Given the description of an element on the screen output the (x, y) to click on. 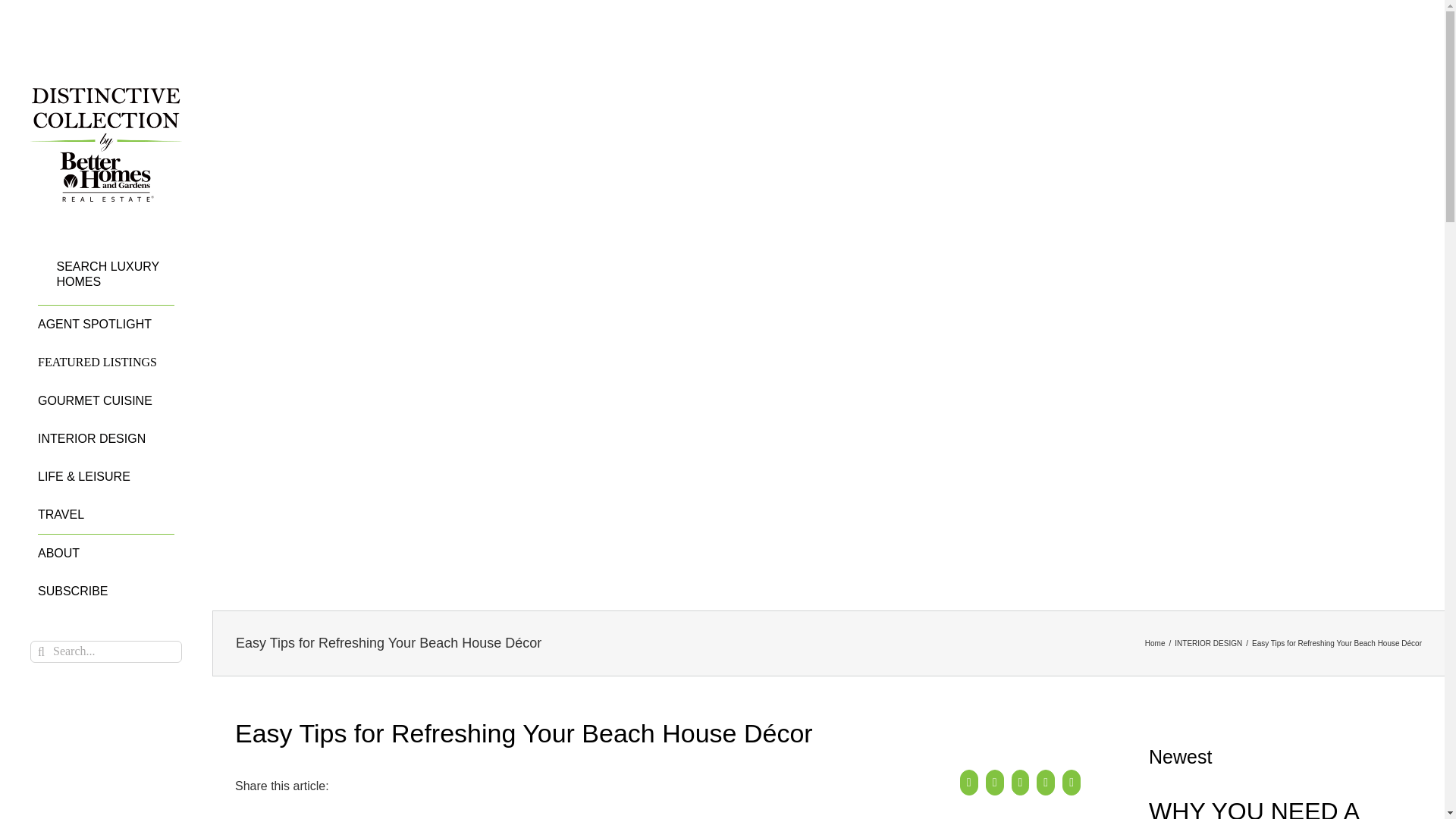
Share this article: (660, 794)
FEATURED LISTINGS (105, 362)
SEARCH LUXURY HOMES (105, 282)
LinkedIn (1023, 786)
SUBSCRIBE (105, 590)
ABOUT (105, 552)
Home (1155, 643)
GOURMET CUISINE (105, 401)
AGENT SPOTLIGHT (105, 323)
Twitter (998, 786)
TRAVEL (105, 515)
Pinterest (1049, 786)
INTERIOR DESIGN (1207, 643)
INTERIOR DESIGN (105, 438)
Email (1074, 786)
